Given the description of an element on the screen output the (x, y) to click on. 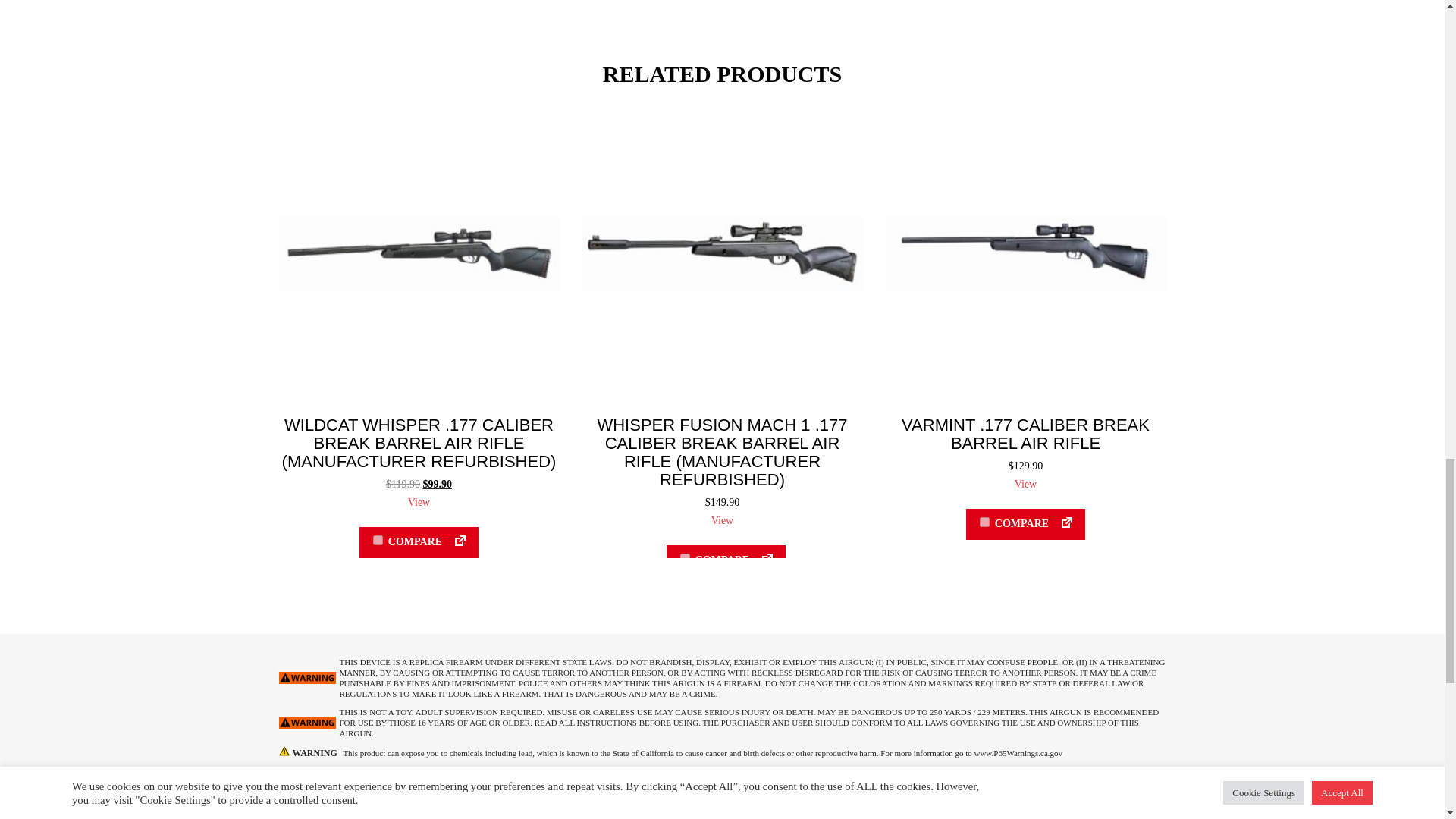
Compare Page (1062, 523)
Compare Page (456, 541)
on (377, 540)
on (984, 521)
on (684, 558)
Compare Page (763, 559)
